Given the description of an element on the screen output the (x, y) to click on. 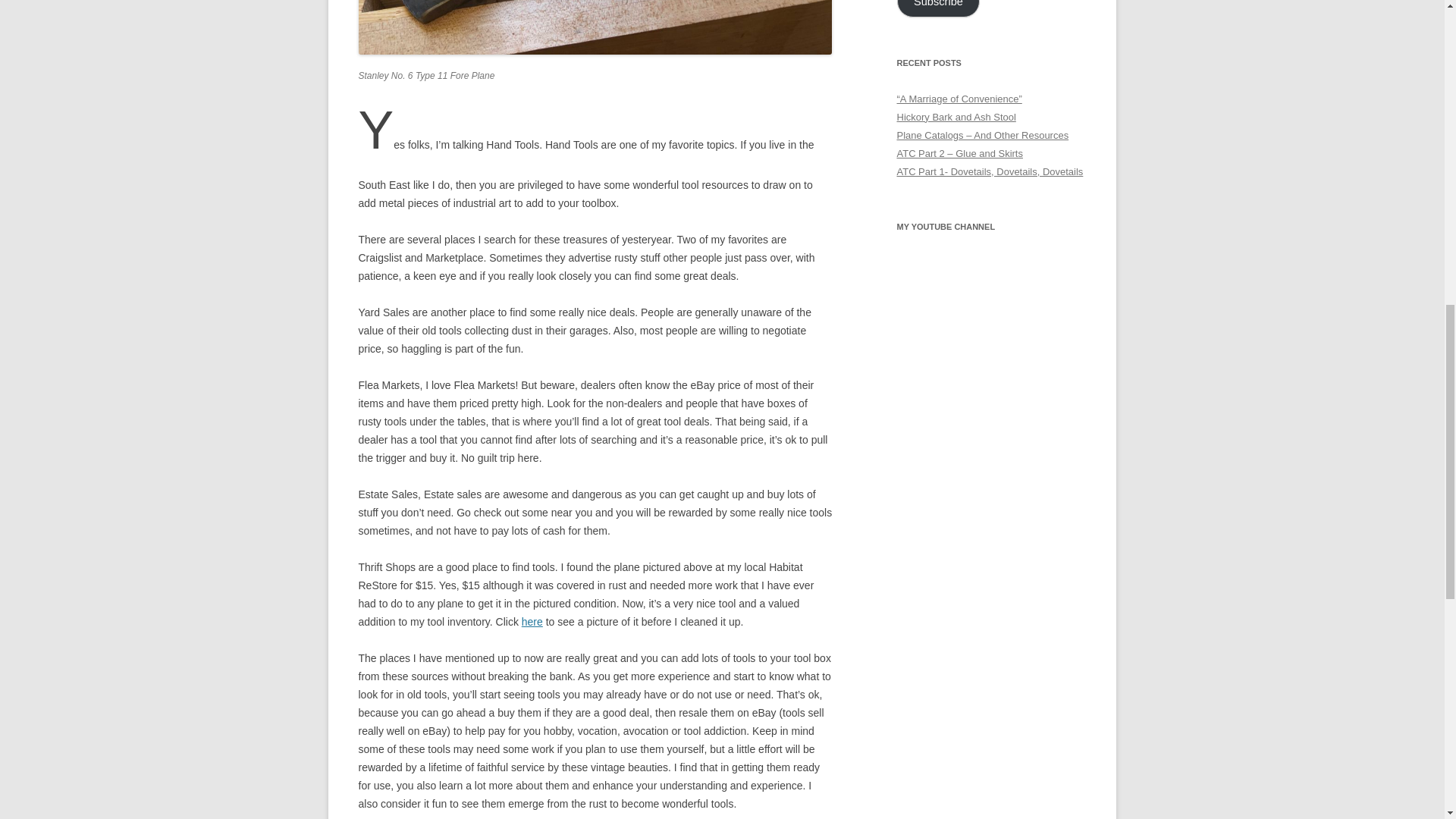
Hickory Bark and Ash Stool (955, 116)
ATC Part 1- Dovetails, Dovetails, Dovetails (989, 171)
here (532, 621)
Subscribe (937, 8)
